Given the description of an element on the screen output the (x, y) to click on. 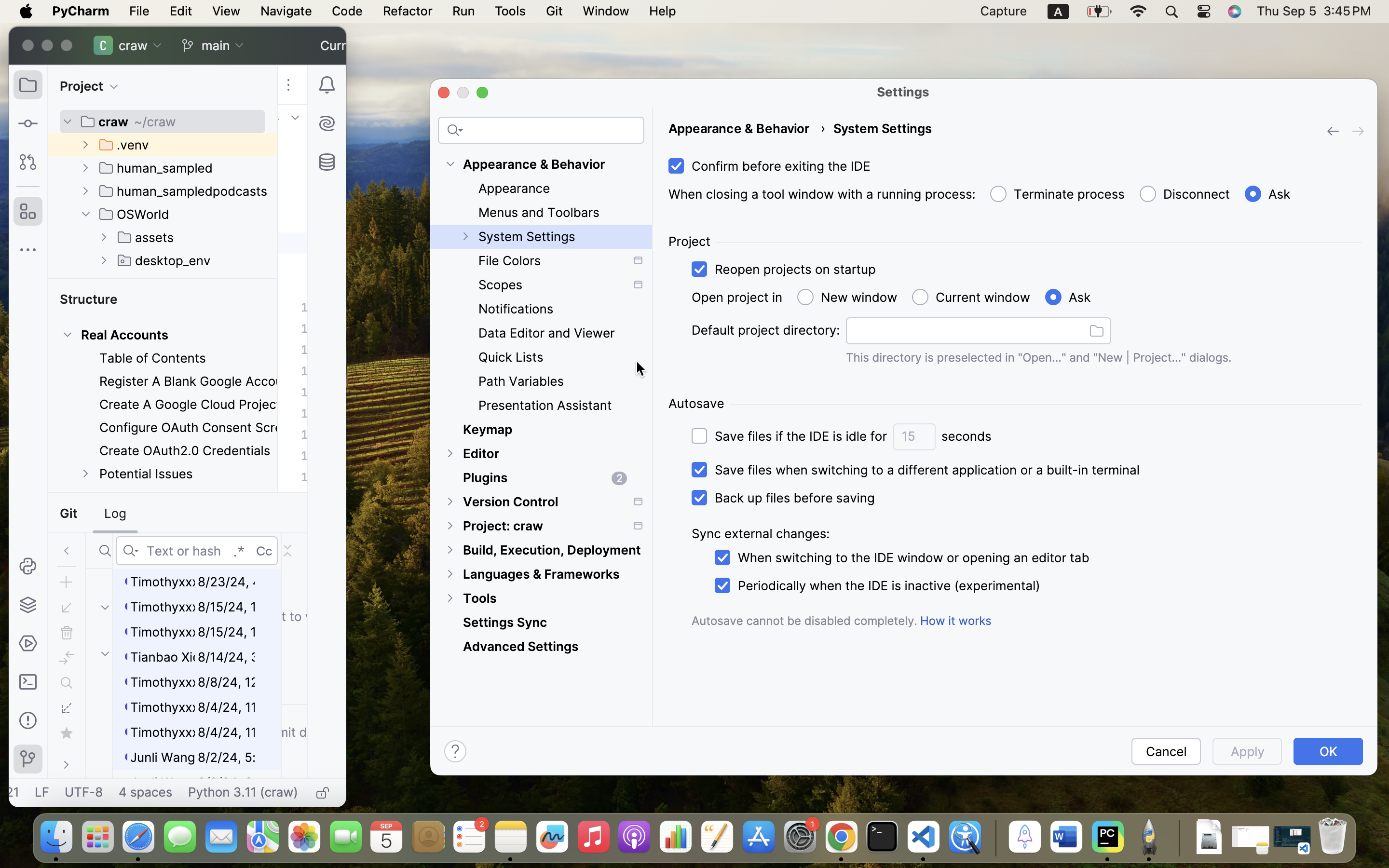
seconds Element type: AXStaticText (966, 436)
0.4285714328289032 Element type: AXDockItem (993, 837)
Sync external changes: Element type: AXStaticText (760, 533)
Autosave Element type: AXStaticText (696, 403)
Open project in Element type: AXStaticText (736, 297)
